Given the description of an element on the screen output the (x, y) to click on. 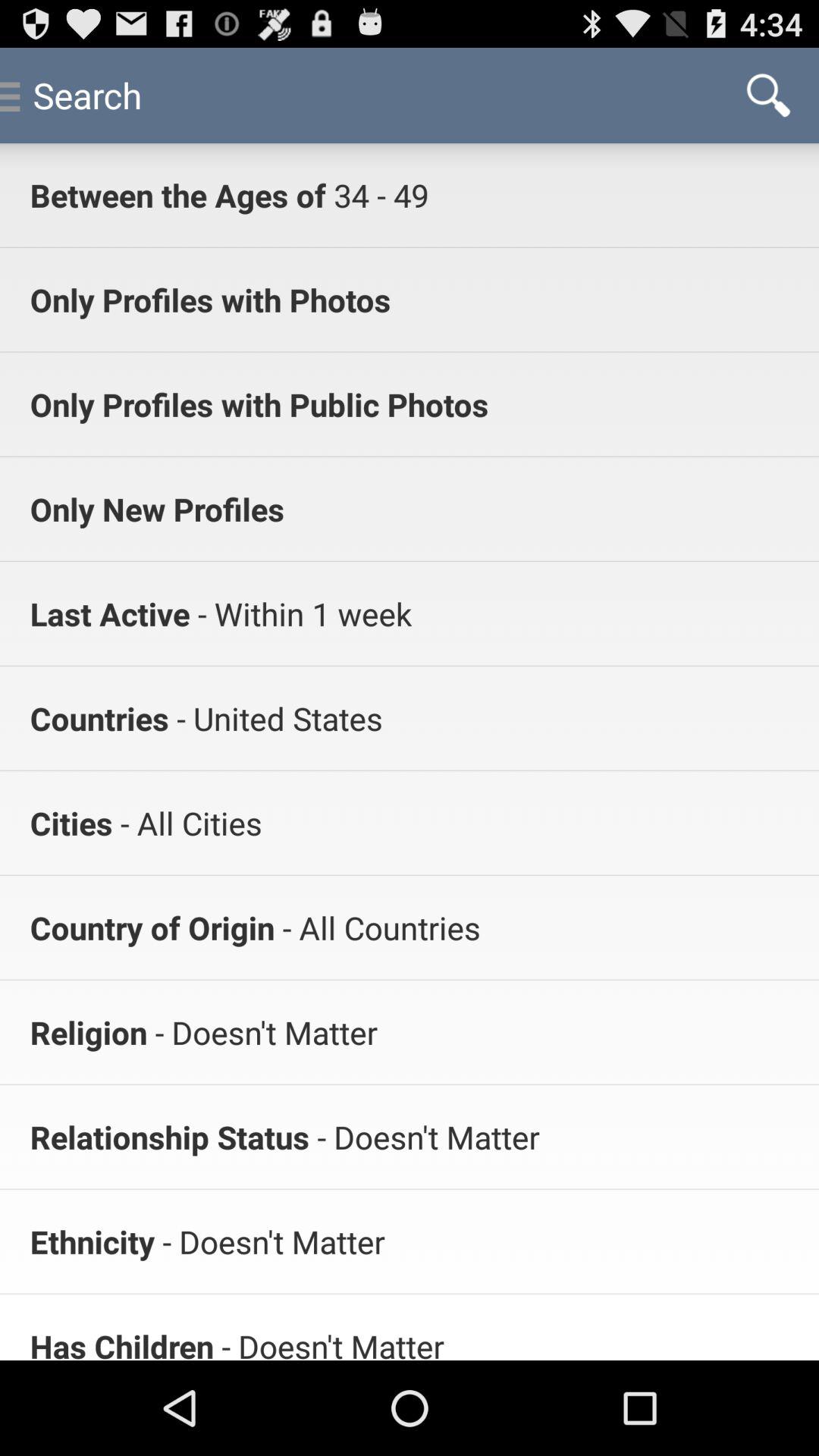
open app below the ethnicity (121, 1342)
